Given the description of an element on the screen output the (x, y) to click on. 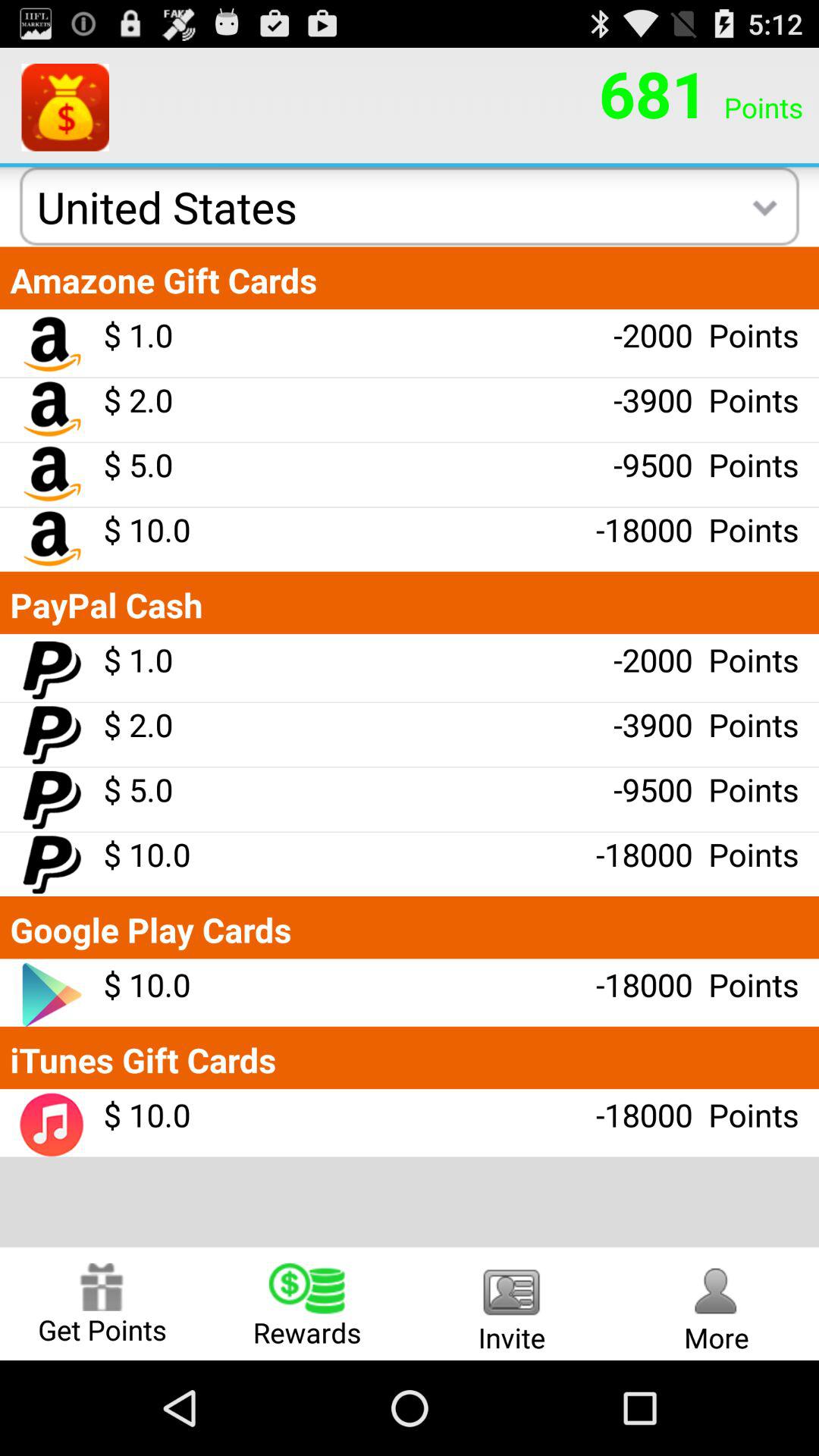
click invite (511, 1303)
